Given the description of an element on the screen output the (x, y) to click on. 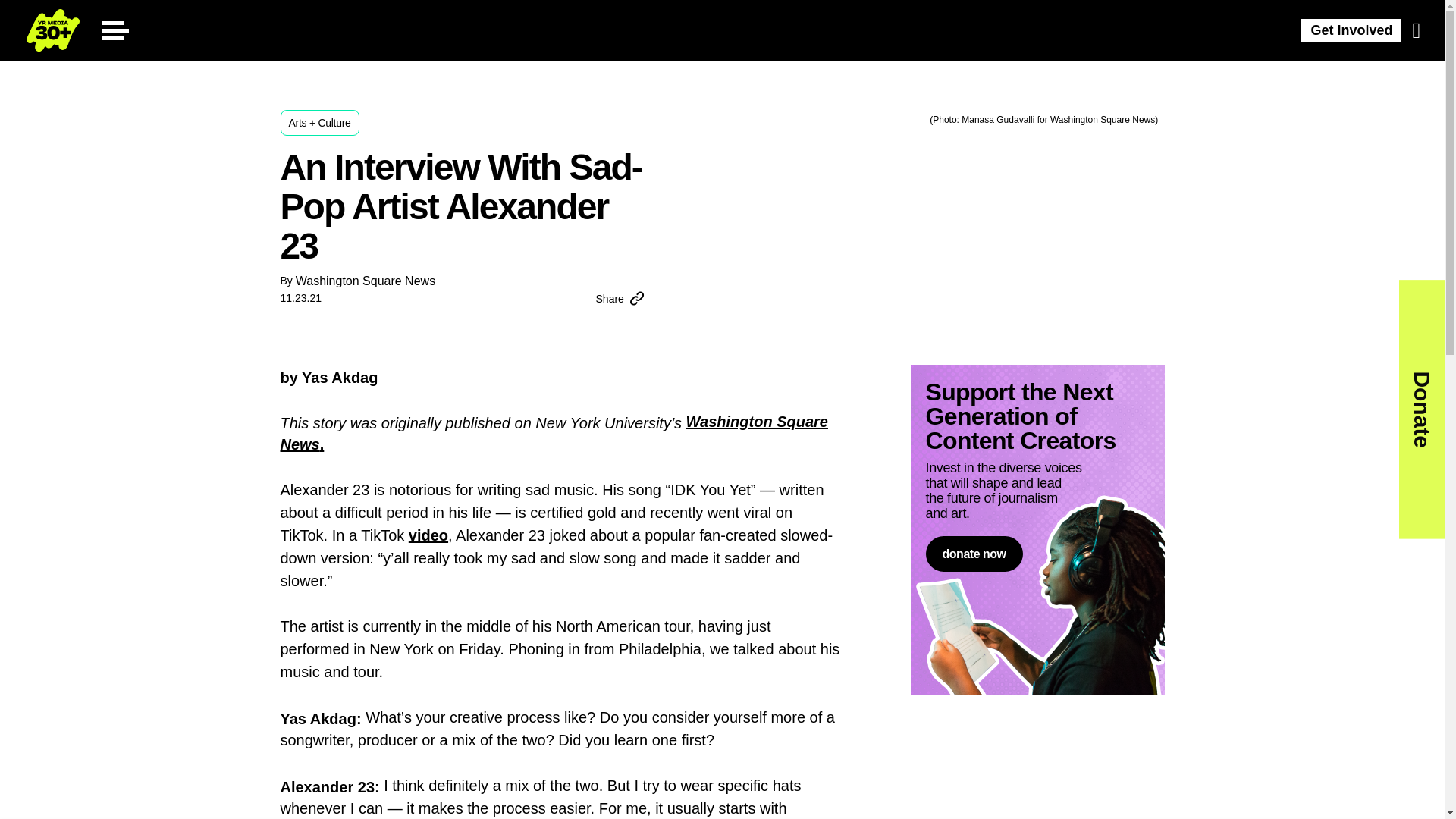
video (428, 535)
Washington Square News (365, 280)
donate now (973, 553)
Washington Square News. (554, 432)
Get Involved (1350, 30)
